Given the description of an element on the screen output the (x, y) to click on. 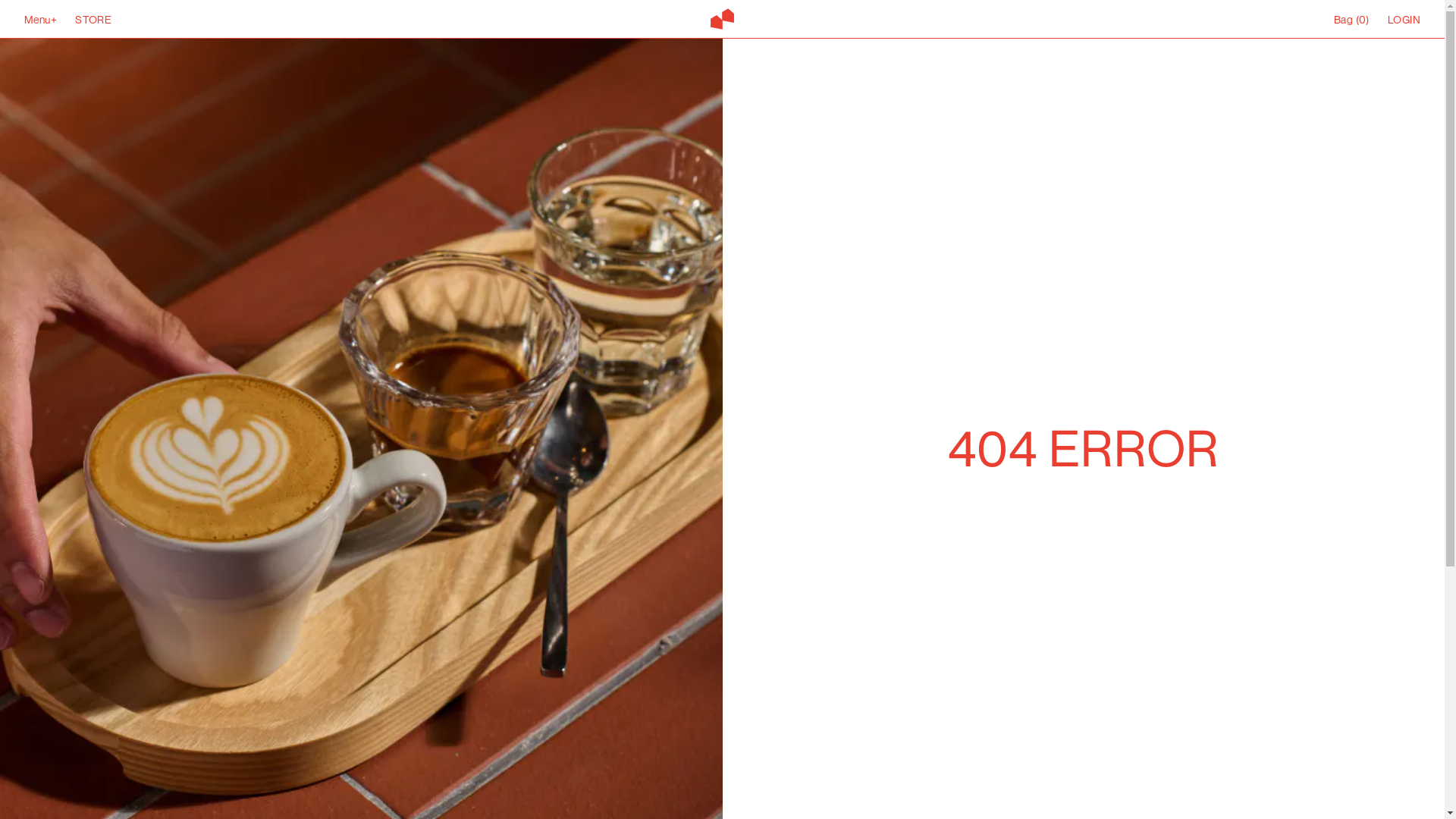
STORE Element type: text (93, 19)
Menu+ Element type: text (40, 19)
Bag (0) Element type: text (1351, 19)
STORE Element type: text (93, 18)
LOGIN Element type: text (1403, 19)
LOGIN Element type: text (1403, 18)
